Given the description of an element on the screen output the (x, y) to click on. 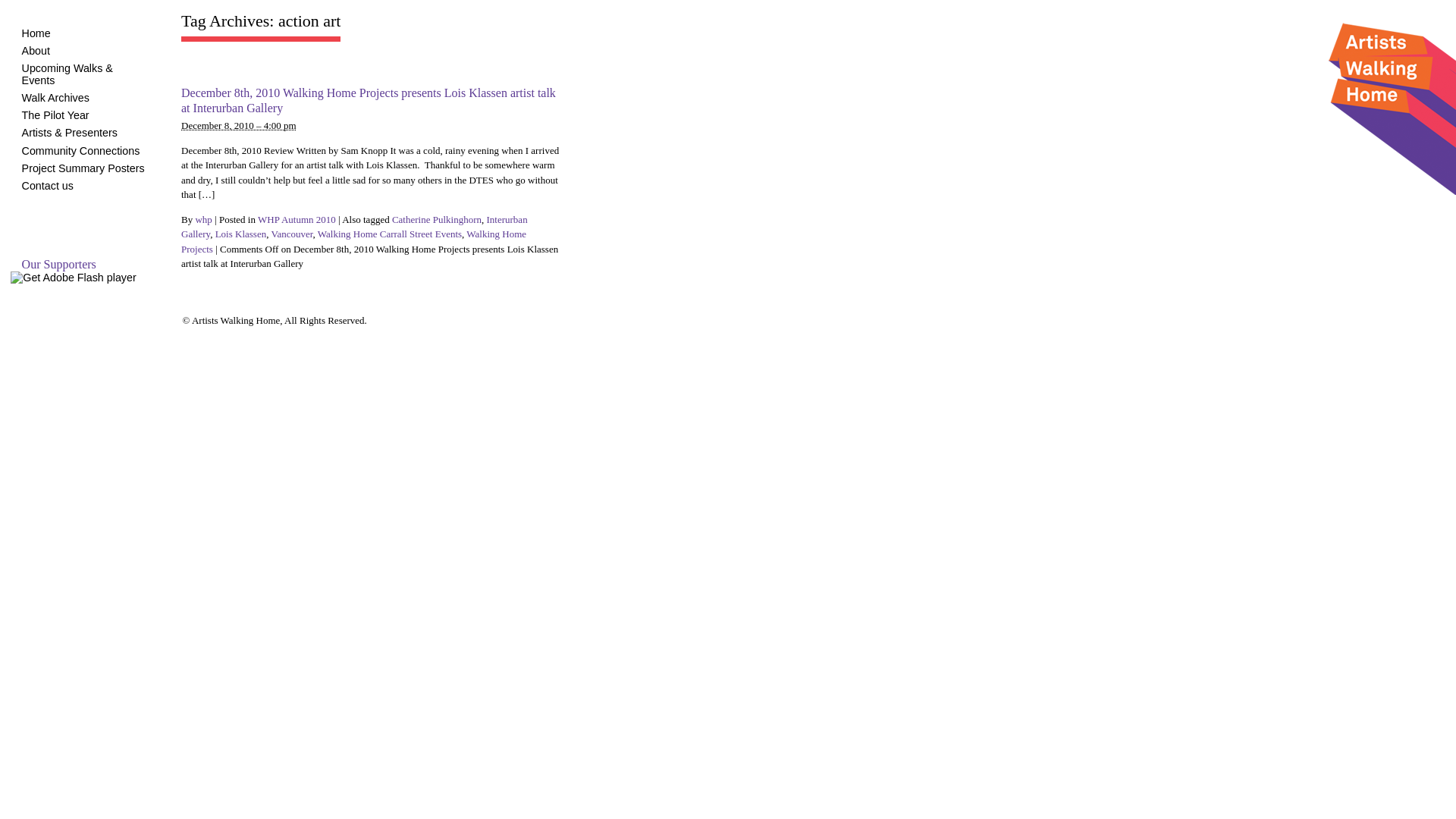
The Pilot Year Element type: text (55, 115)
Interurban Gallery Element type: text (354, 226)
About Element type: text (35, 50)
Home Element type: text (35, 33)
whp Element type: text (202, 219)
Contact us Element type: text (47, 185)
Vancouver Element type: text (291, 233)
Lois Klassen Element type: text (240, 233)
Walking Home Projects Element type: text (353, 241)
Walking Home Carrall Street Events Element type: text (389, 233)
Walk Archives Element type: text (55, 97)
Upcoming Walks & Events Element type: text (66, 74)
Community Connections Element type: text (80, 150)
WHP Autumn 2010 Element type: text (296, 219)
Artists & Presenters Element type: text (69, 132)
Catherine Pulkinghorn Element type: text (436, 219)
Project Summary Posters Element type: text (82, 168)
